Given the description of an element on the screen output the (x, y) to click on. 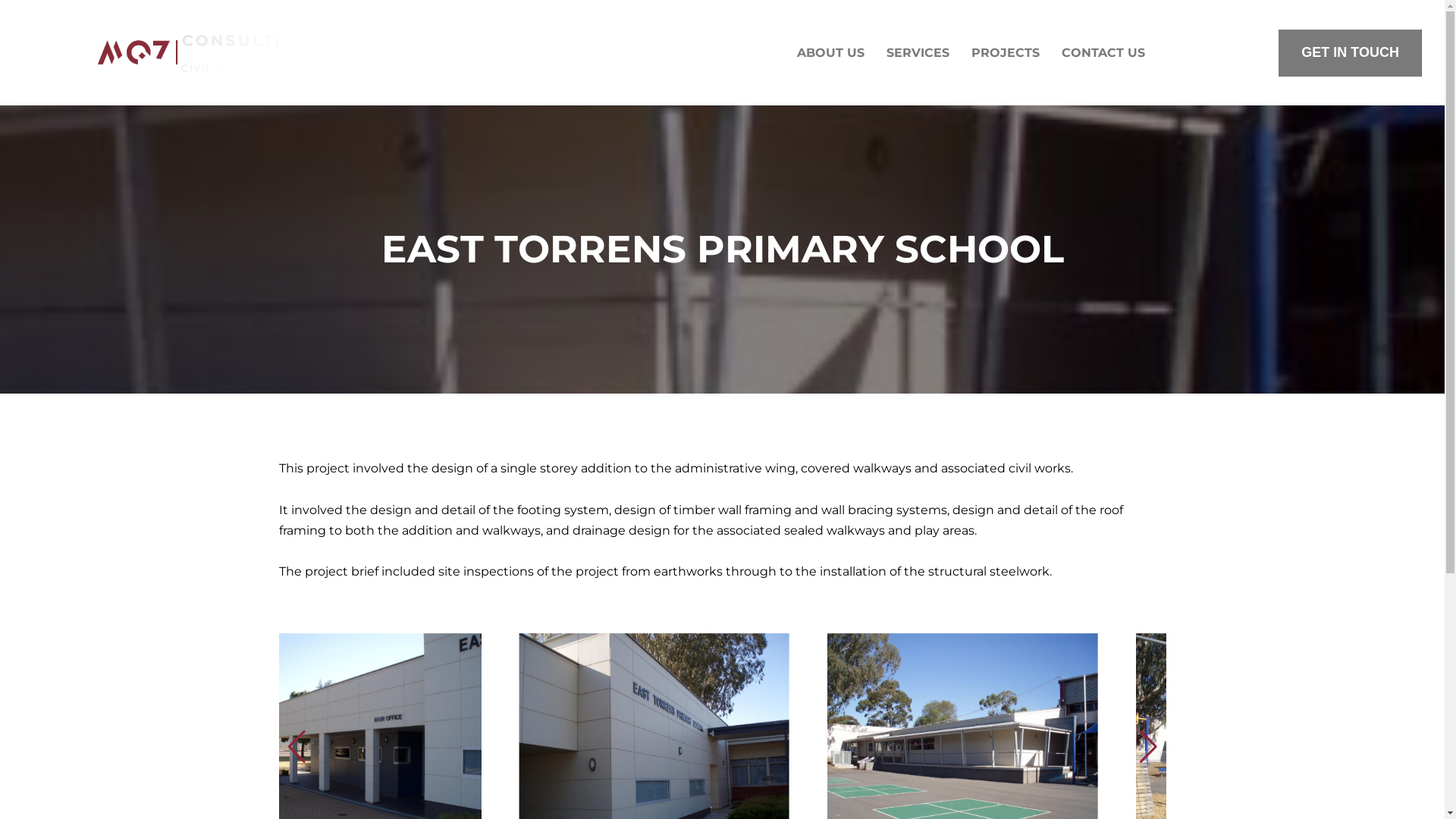
CONTACT US Element type: text (1103, 52)
ABOUT US Element type: text (830, 52)
SERVICES Element type: text (917, 52)
GET IN TOUCH Element type: text (1349, 52)
PROJECTS Element type: text (1005, 52)
